Given the description of an element on the screen output the (x, y) to click on. 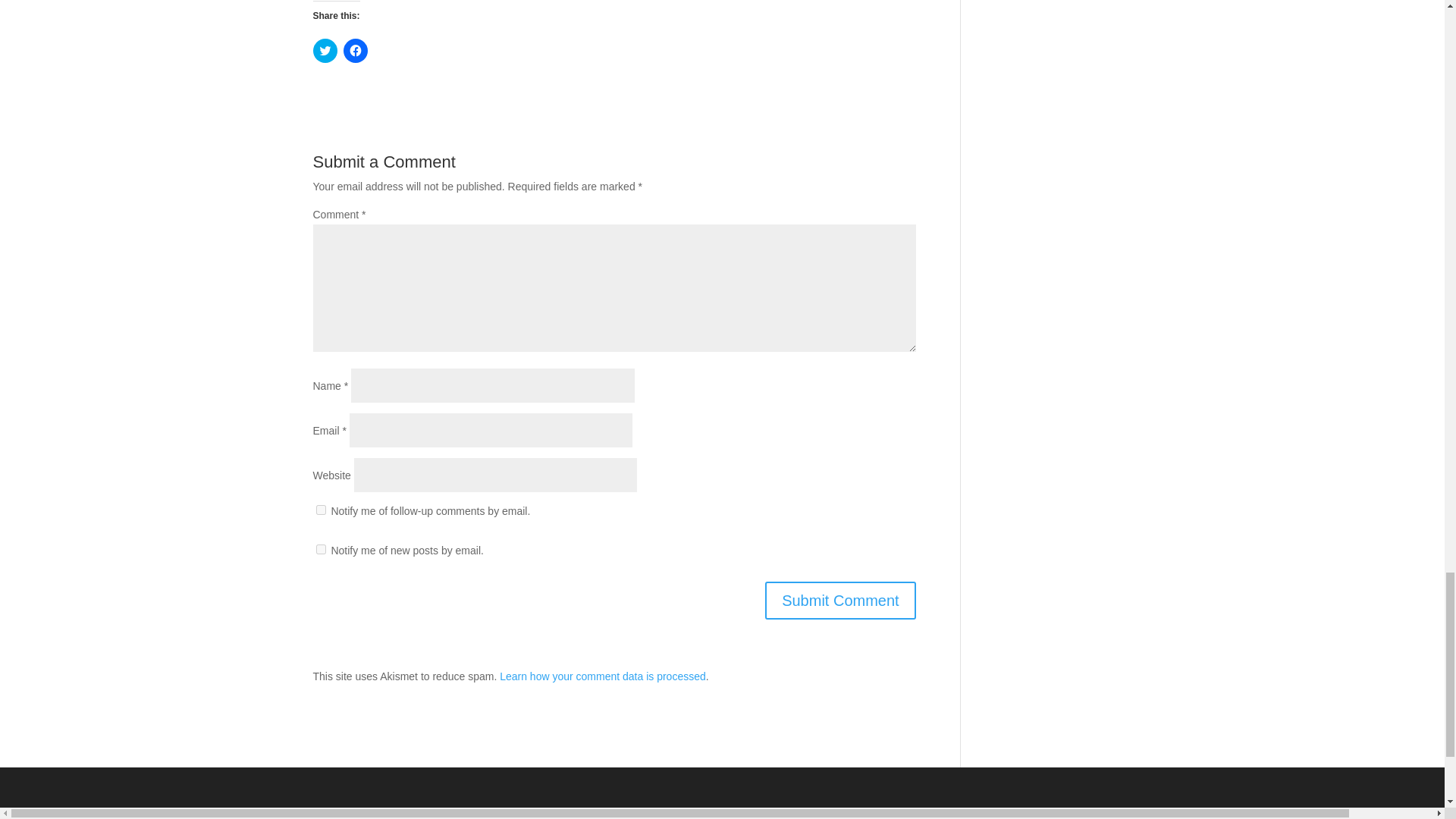
subscribe (319, 510)
Click to share on Facebook (354, 50)
Submit Comment (840, 600)
Submit Comment (840, 600)
subscribe (319, 549)
Click to share on Twitter (324, 50)
Learn how your comment data is processed (602, 676)
